Given the description of an element on the screen output the (x, y) to click on. 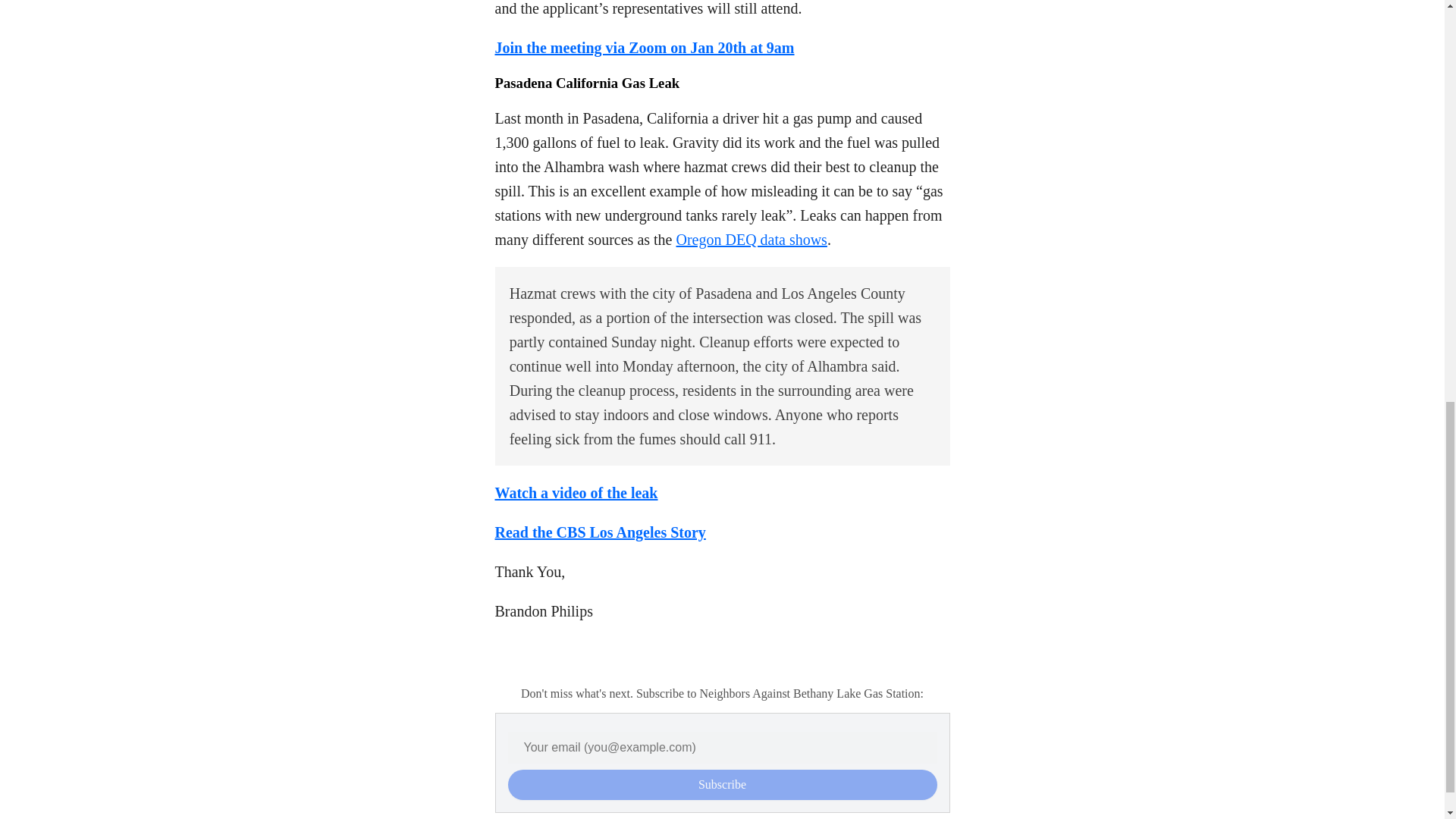
Join the meeting via Zoom on Jan 20th at 9am (644, 47)
Oregon DEQ data shows (752, 239)
Watch a video of the leak (576, 492)
Read the CBS Los Angeles Story (599, 532)
